Given the description of an element on the screen output the (x, y) to click on. 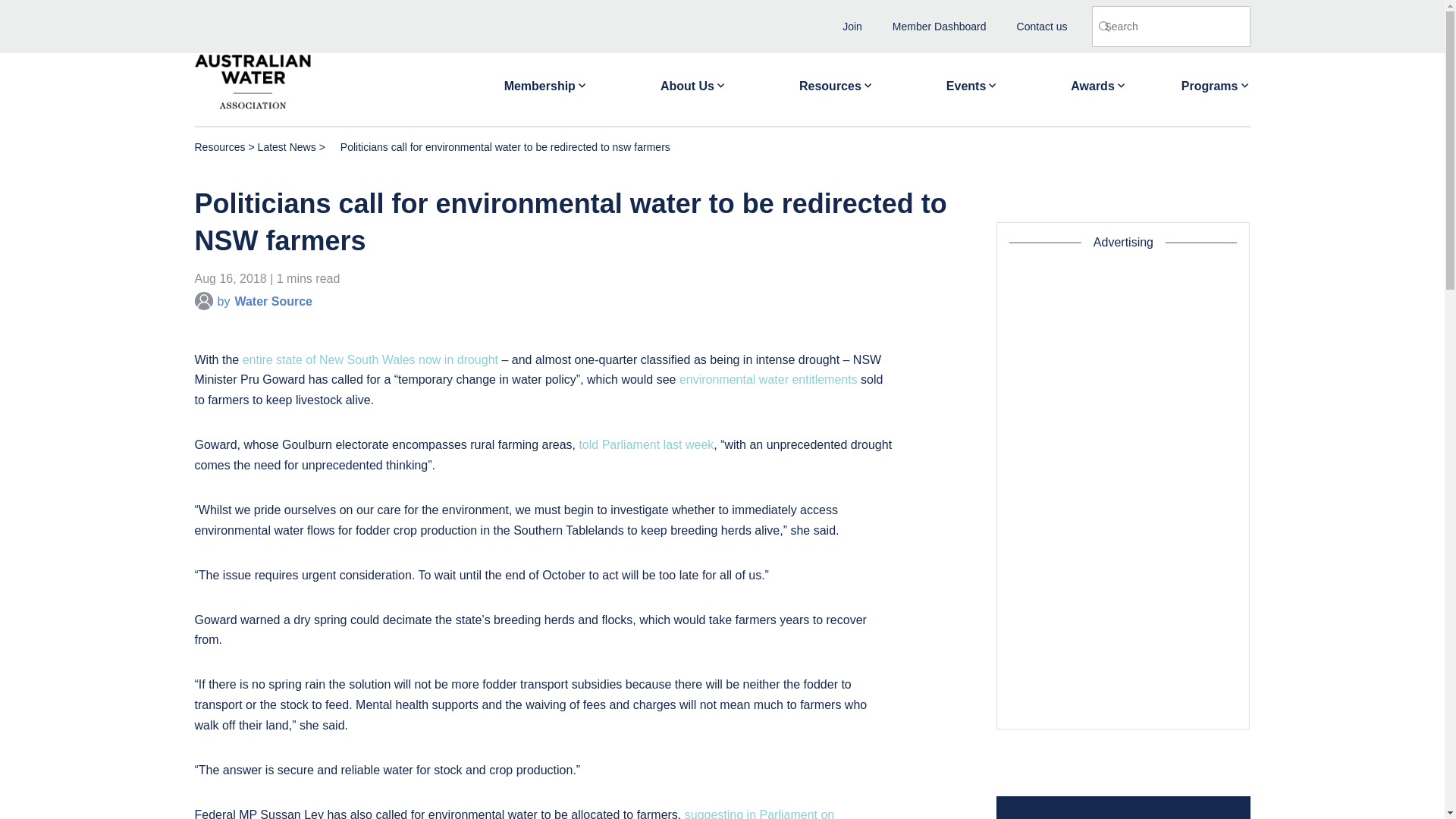
Membership (545, 79)
Resources (835, 79)
Member Dashboard (939, 26)
Join (852, 26)
User Icon (202, 300)
Awards (1098, 79)
About Us (693, 79)
Contact us (1041, 26)
Events (972, 79)
